Given the description of an element on the screen output the (x, y) to click on. 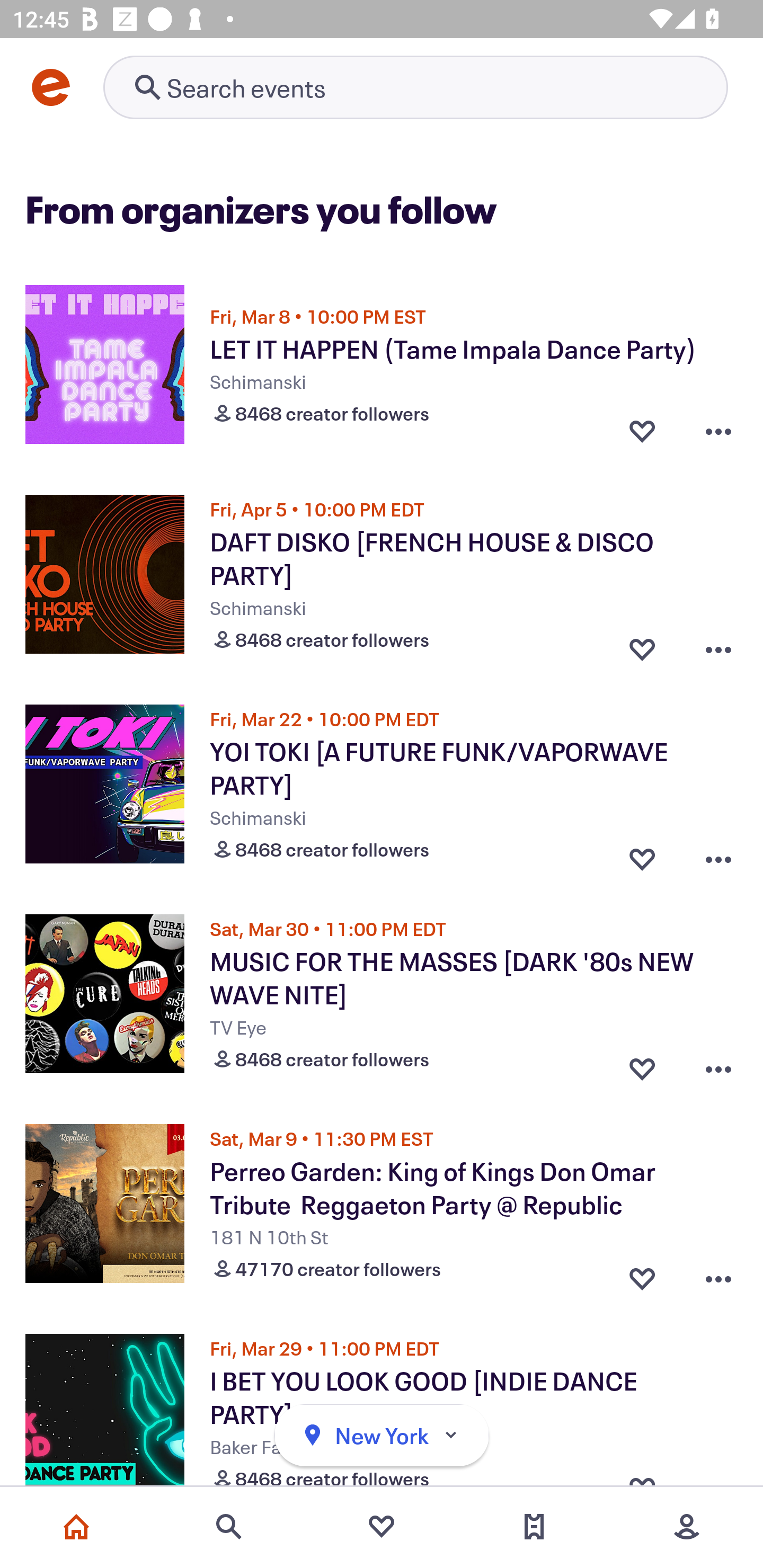
Retry's image Search events (415, 86)
Favorite button (642, 430)
Overflow menu button (718, 430)
Favorite button (642, 644)
Overflow menu button (718, 644)
Favorite button (642, 855)
Overflow menu button (718, 855)
Favorite button (642, 1065)
Overflow menu button (718, 1065)
Favorite button (642, 1274)
Overflow menu button (718, 1274)
New York (381, 1435)
Home (76, 1526)
Search events (228, 1526)
Favorites (381, 1526)
Tickets (533, 1526)
More (686, 1526)
